Given the description of an element on the screen output the (x, y) to click on. 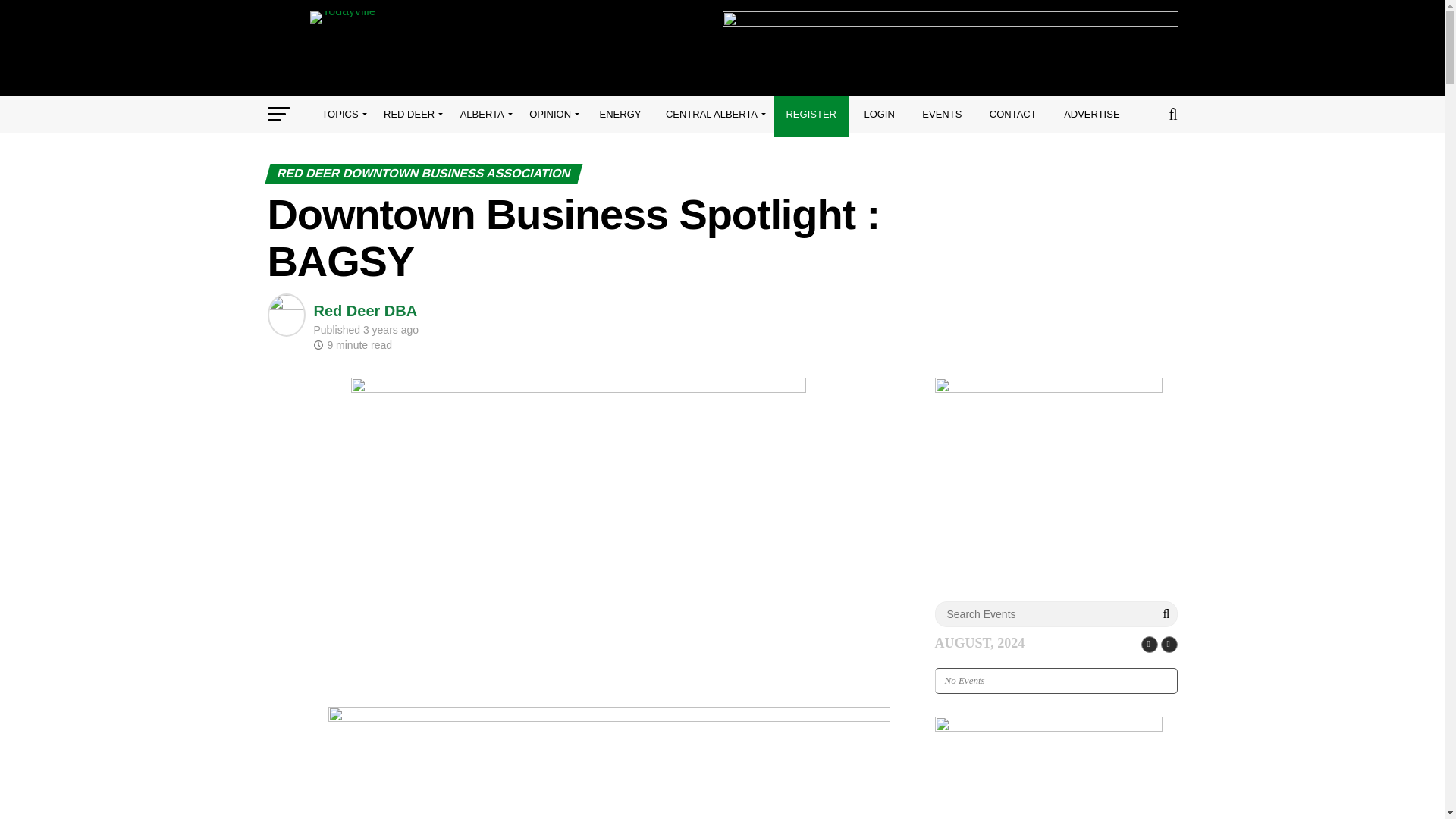
Posts by Red Deer DBA (365, 310)
